Given the description of an element on the screen output the (x, y) to click on. 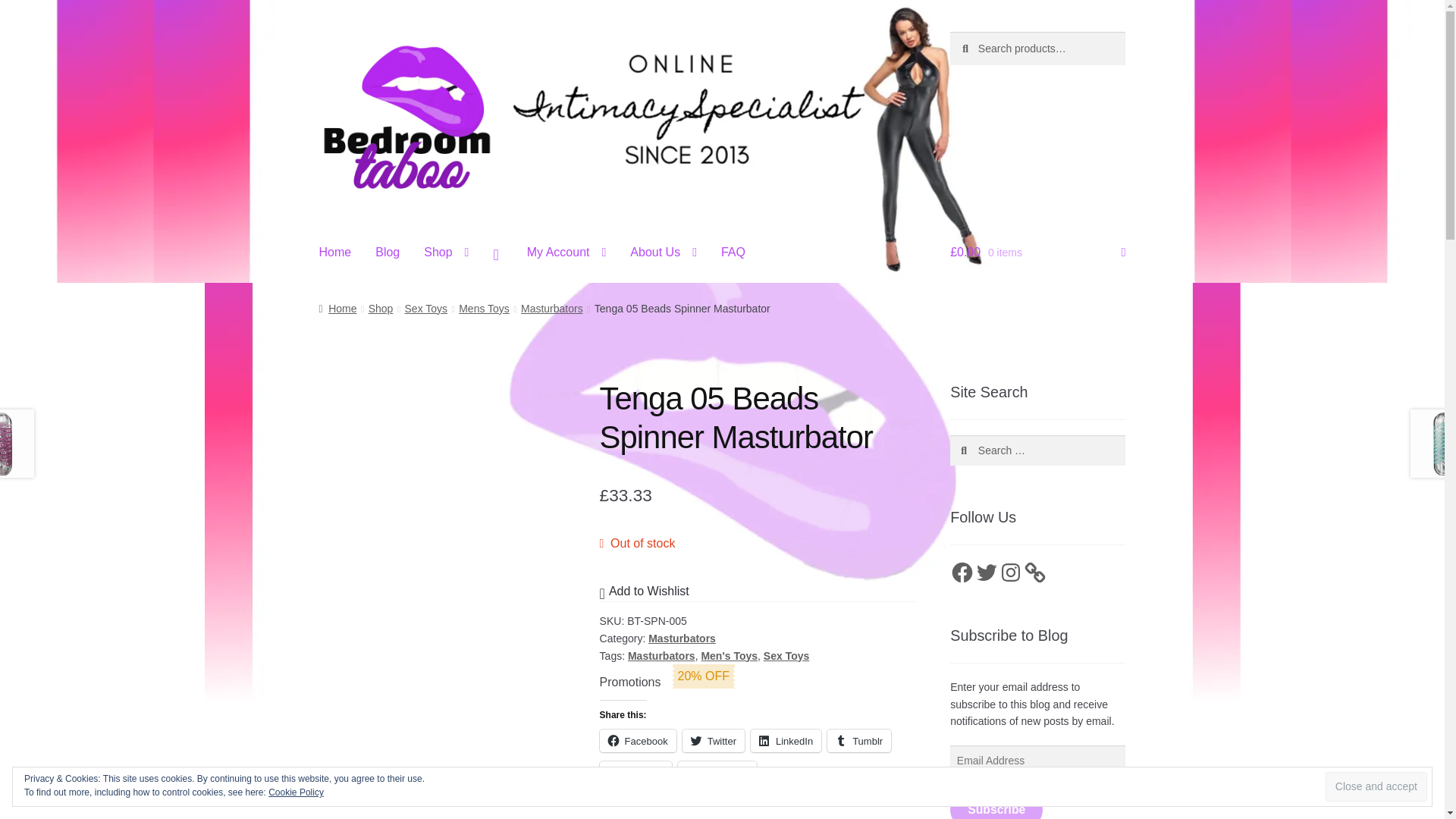
My Account (566, 252)
View your shopping basket (1037, 252)
Shop (446, 252)
About Us (663, 252)
Click to share on Twitter (713, 740)
Click to share on Tumblr (859, 740)
